Given the description of an element on the screen output the (x, y) to click on. 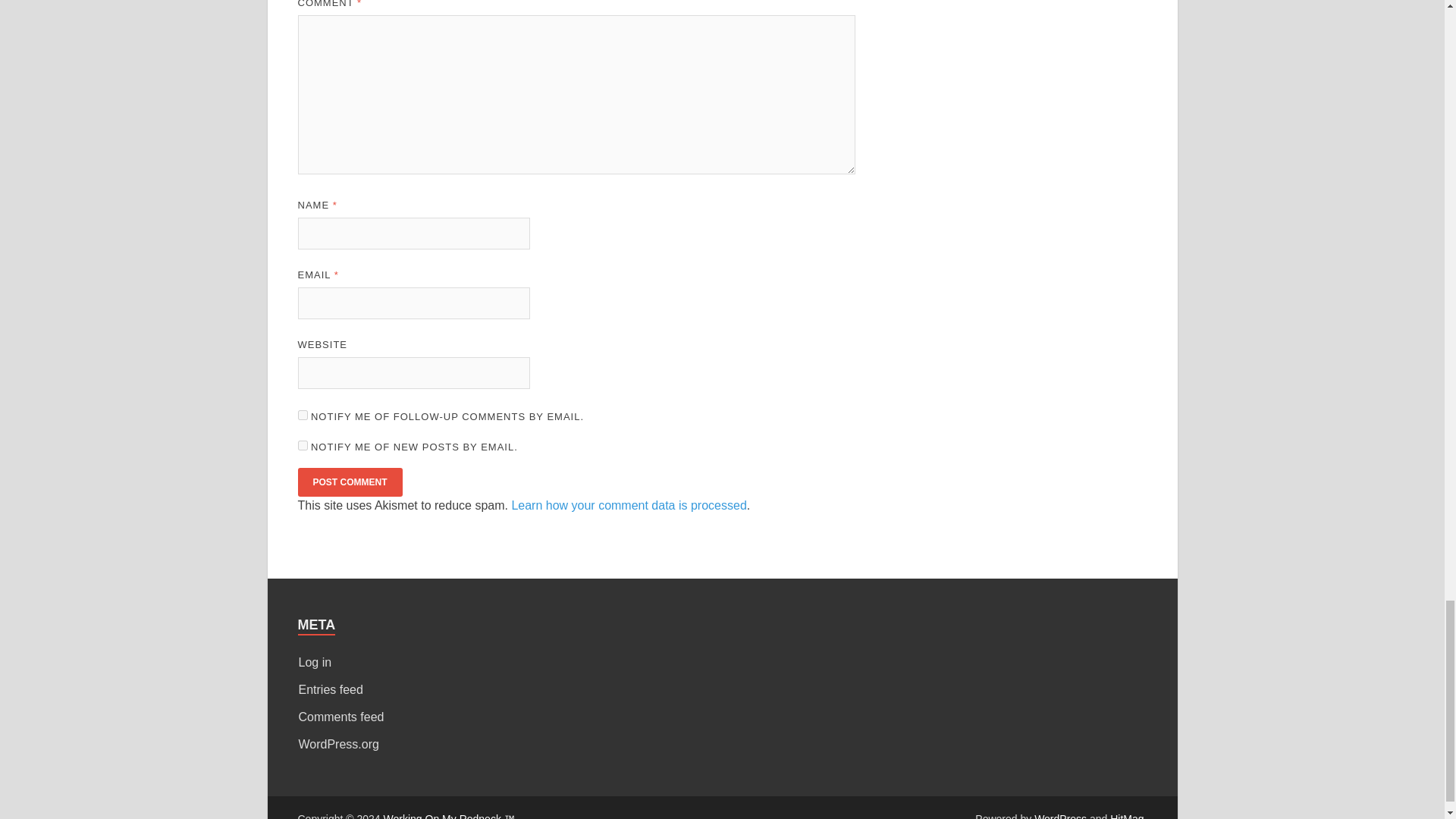
Post Comment (349, 481)
subscribe (302, 445)
subscribe (302, 415)
Learn how your comment data is processed (628, 504)
Post Comment (349, 481)
